Given the description of an element on the screen output the (x, y) to click on. 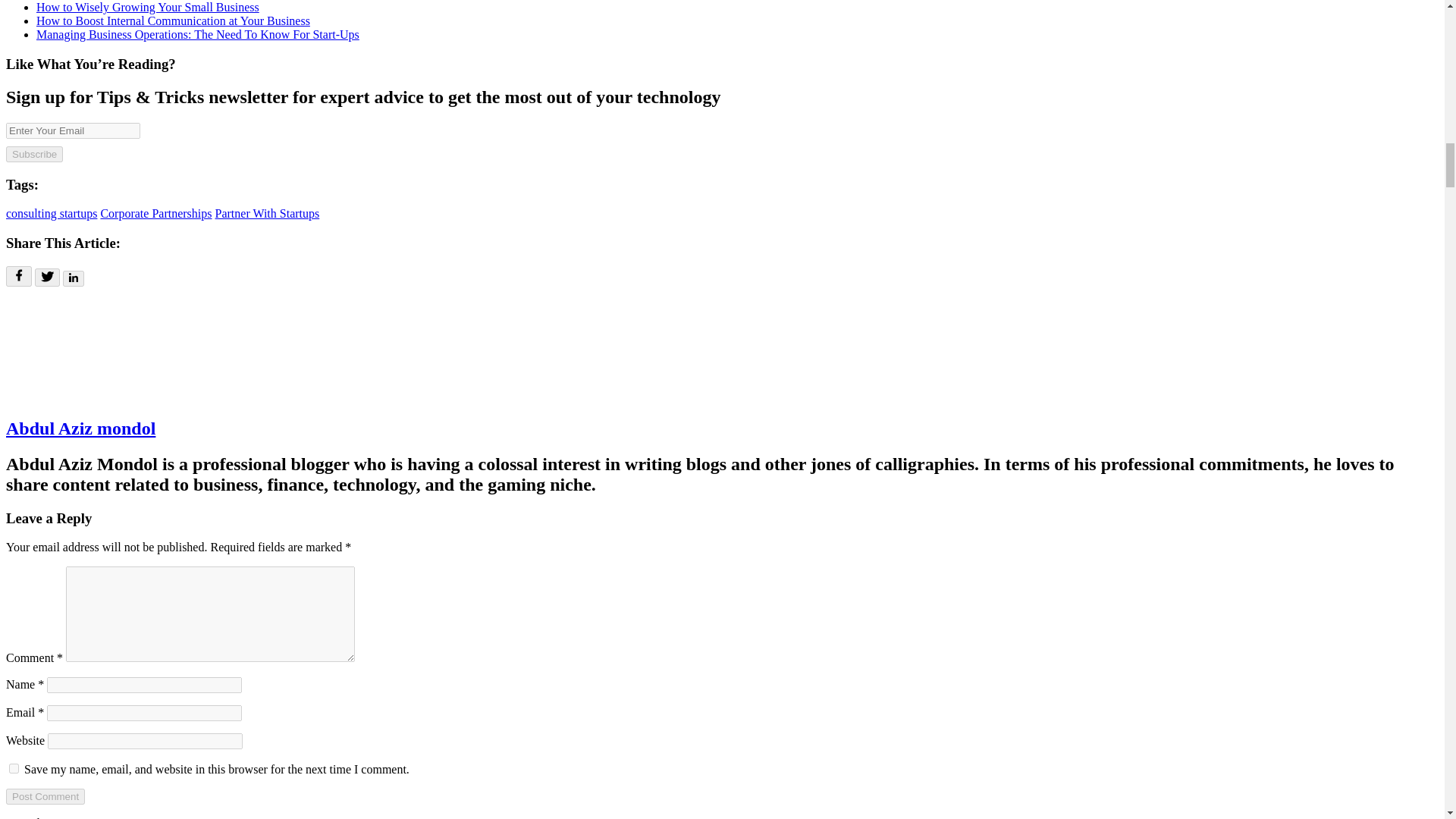
Subscribe (33, 154)
Post Comment (44, 796)
yes (13, 768)
